Given the description of an element on the screen output the (x, y) to click on. 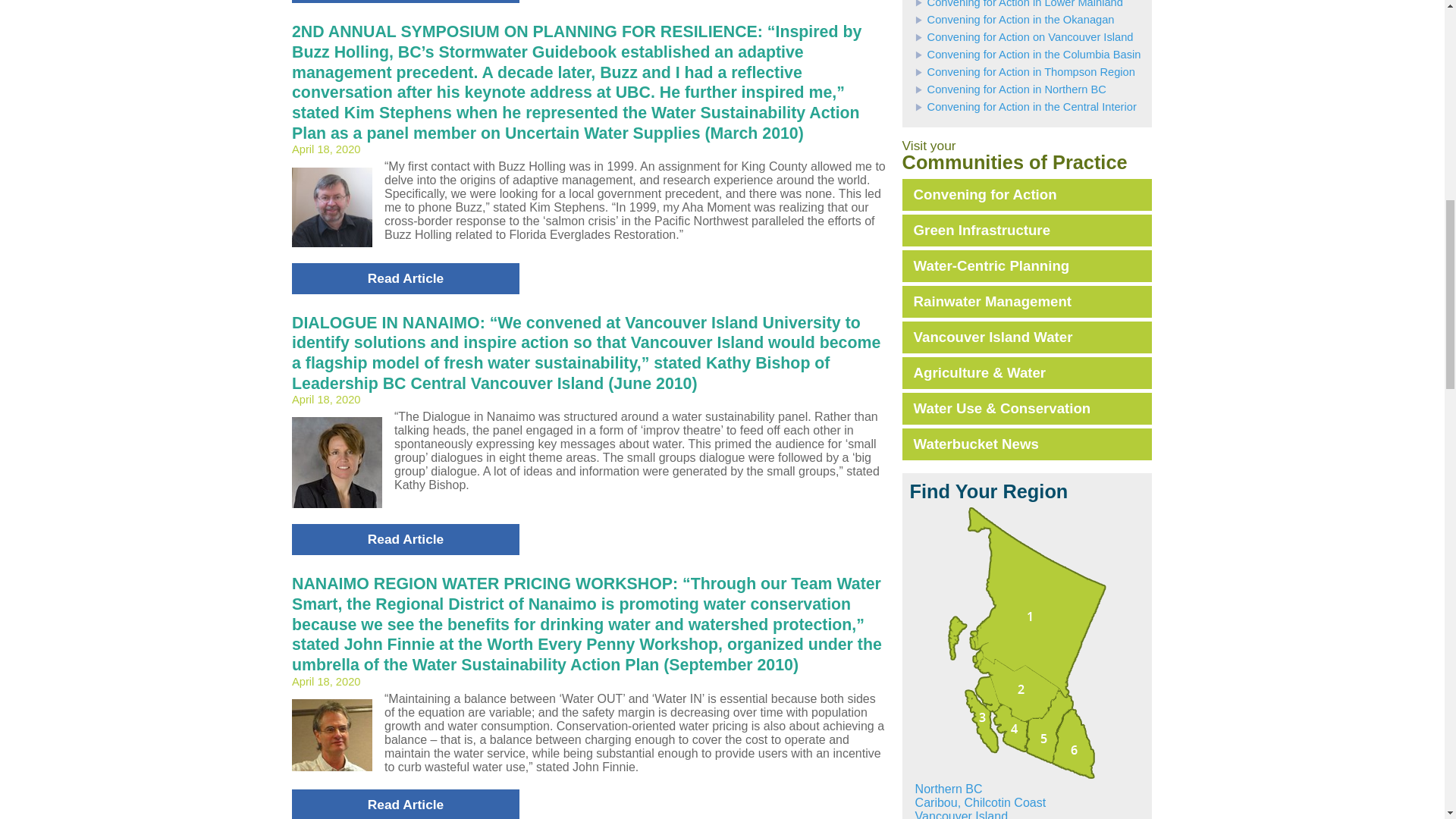
Read Article (405, 539)
Read Article (405, 1)
Read Article (405, 804)
Caribou, Chilcotin Coast (1022, 681)
Read Article (405, 278)
